Given the description of an element on the screen output the (x, y) to click on. 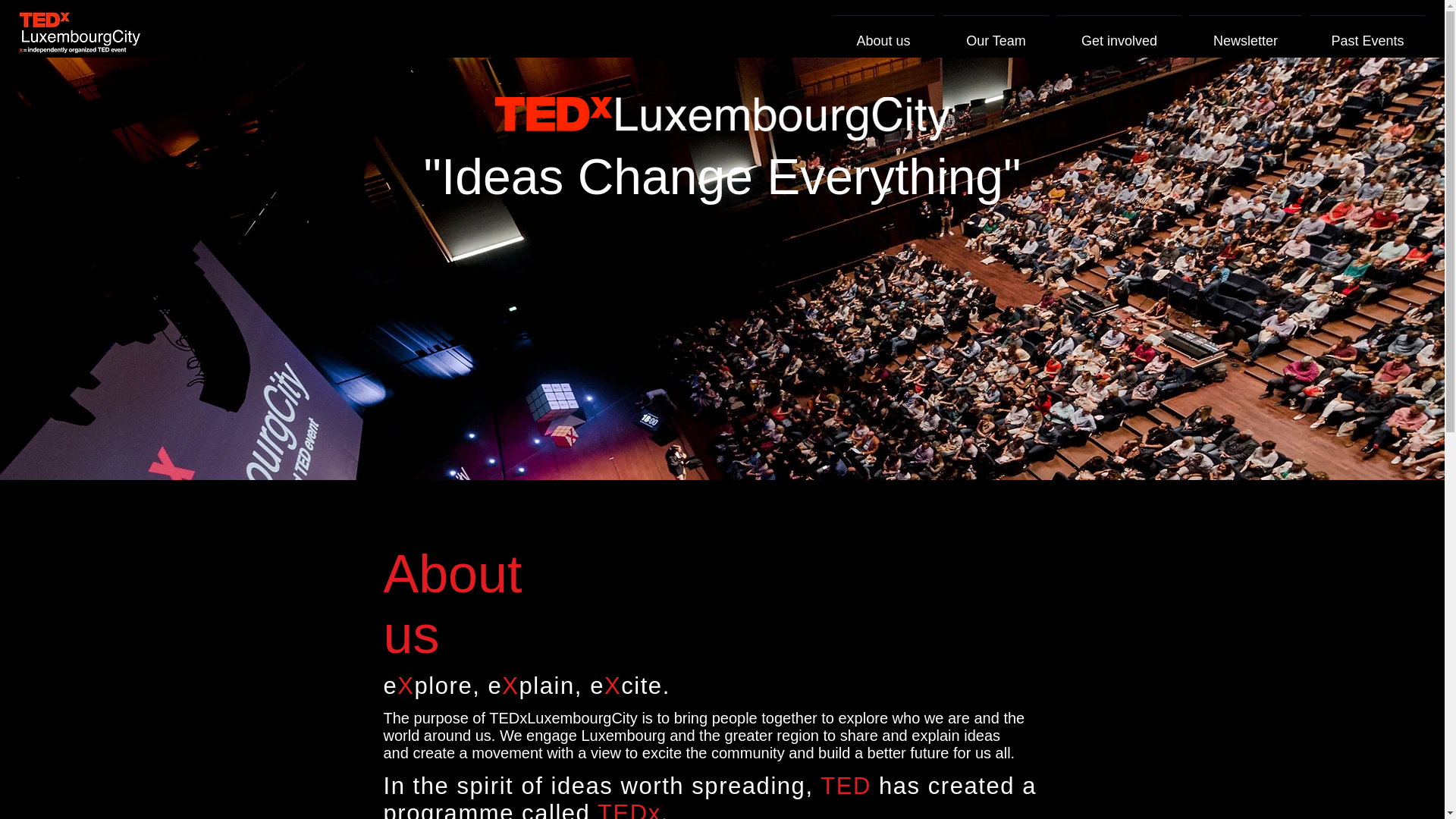
About us (883, 34)
Newsletter (1245, 34)
Our Team (995, 34)
